Given the description of an element on the screen output the (x, y) to click on. 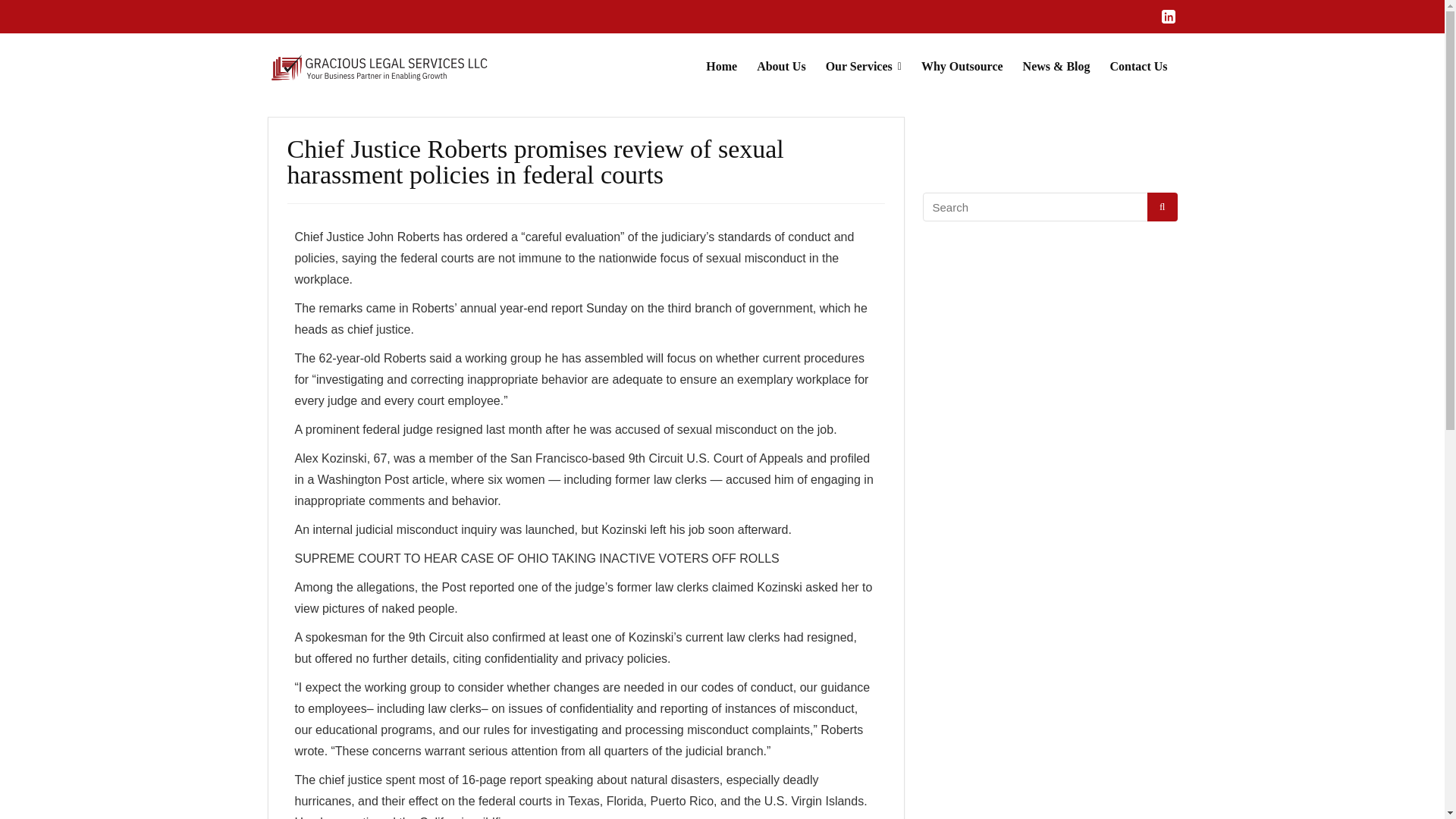
Our Services (863, 67)
Why Outsource (962, 67)
Home (720, 67)
Contact Us (1137, 67)
About Us (780, 67)
